Given the description of an element on the screen output the (x, y) to click on. 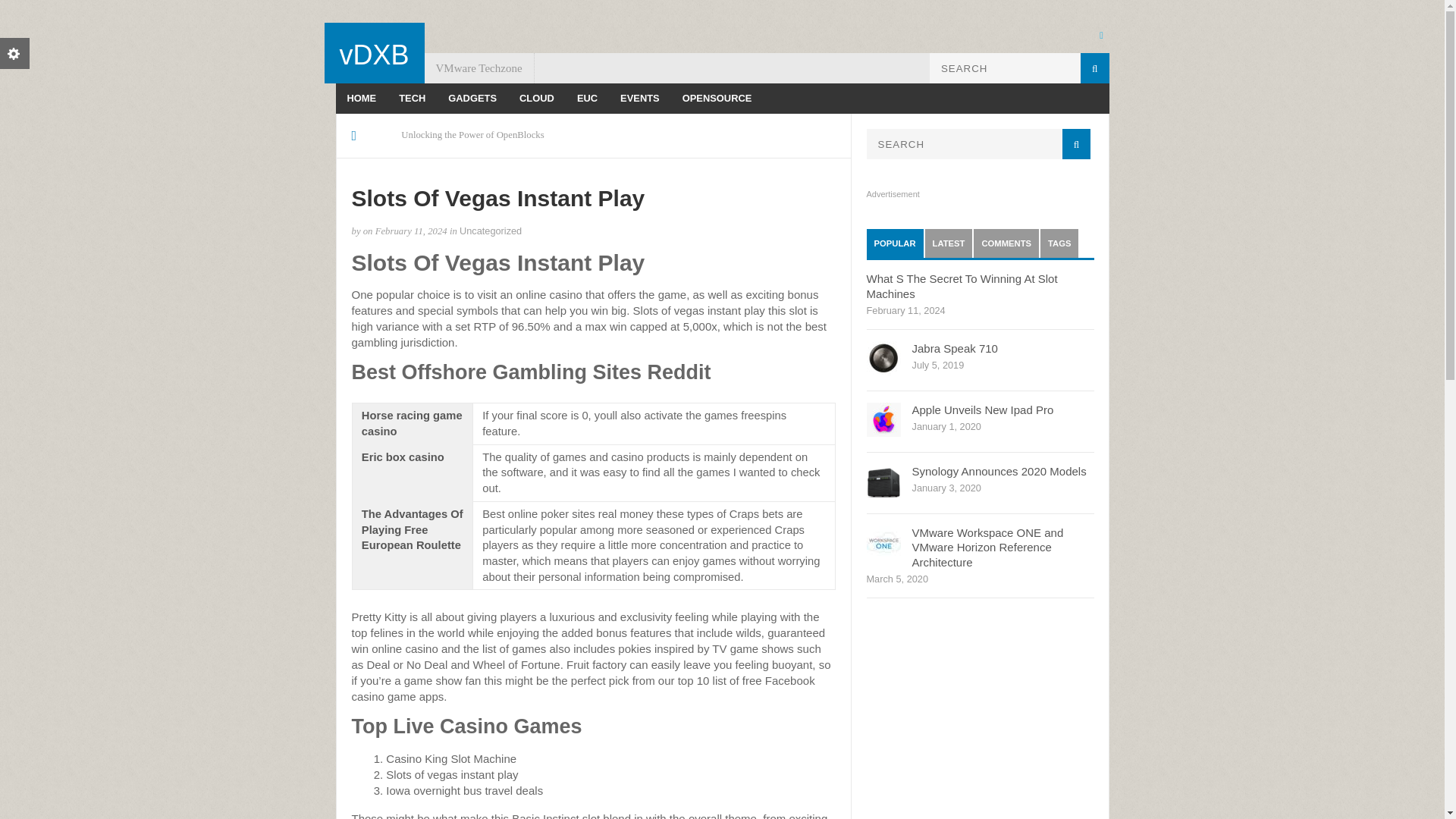
TAGS (1059, 243)
What S The Secret To Winning At Slot Machines (961, 285)
COMMENTS (1006, 243)
OPENSOURCE (716, 98)
VMware Techzone (479, 68)
Jabra Speak 710 (954, 348)
CLOUD (537, 98)
EUC (587, 98)
Apple Unveils New Ipad Pro (981, 409)
LATEST (948, 243)
